Given the description of an element on the screen output the (x, y) to click on. 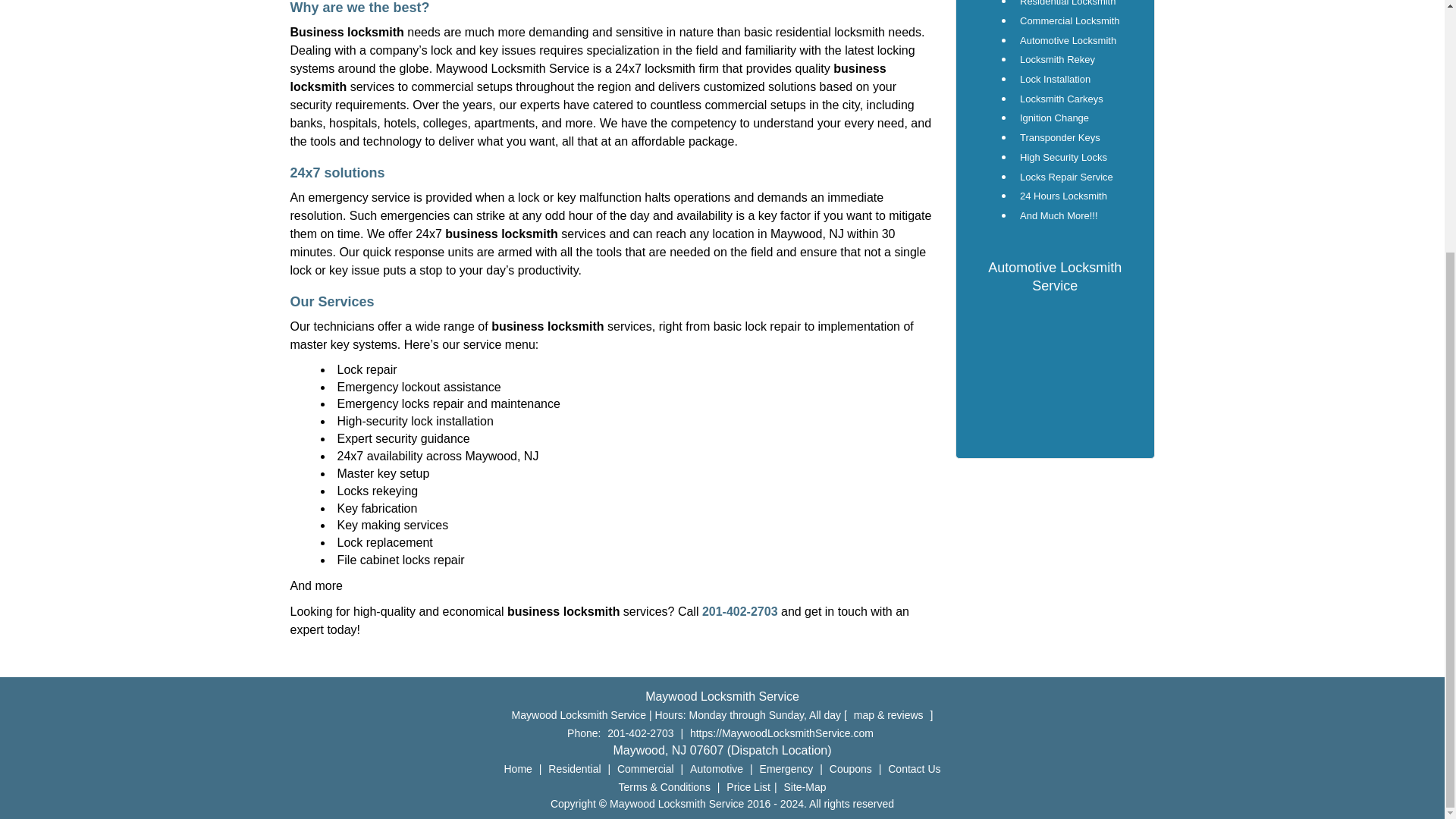
Automotive (715, 768)
201-402-2703 (640, 733)
Residential (574, 768)
Automotive Locksmith Service (1054, 276)
Commercial (645, 768)
Home (517, 768)
201-402-2703 (739, 611)
